Given the description of an element on the screen output the (x, y) to click on. 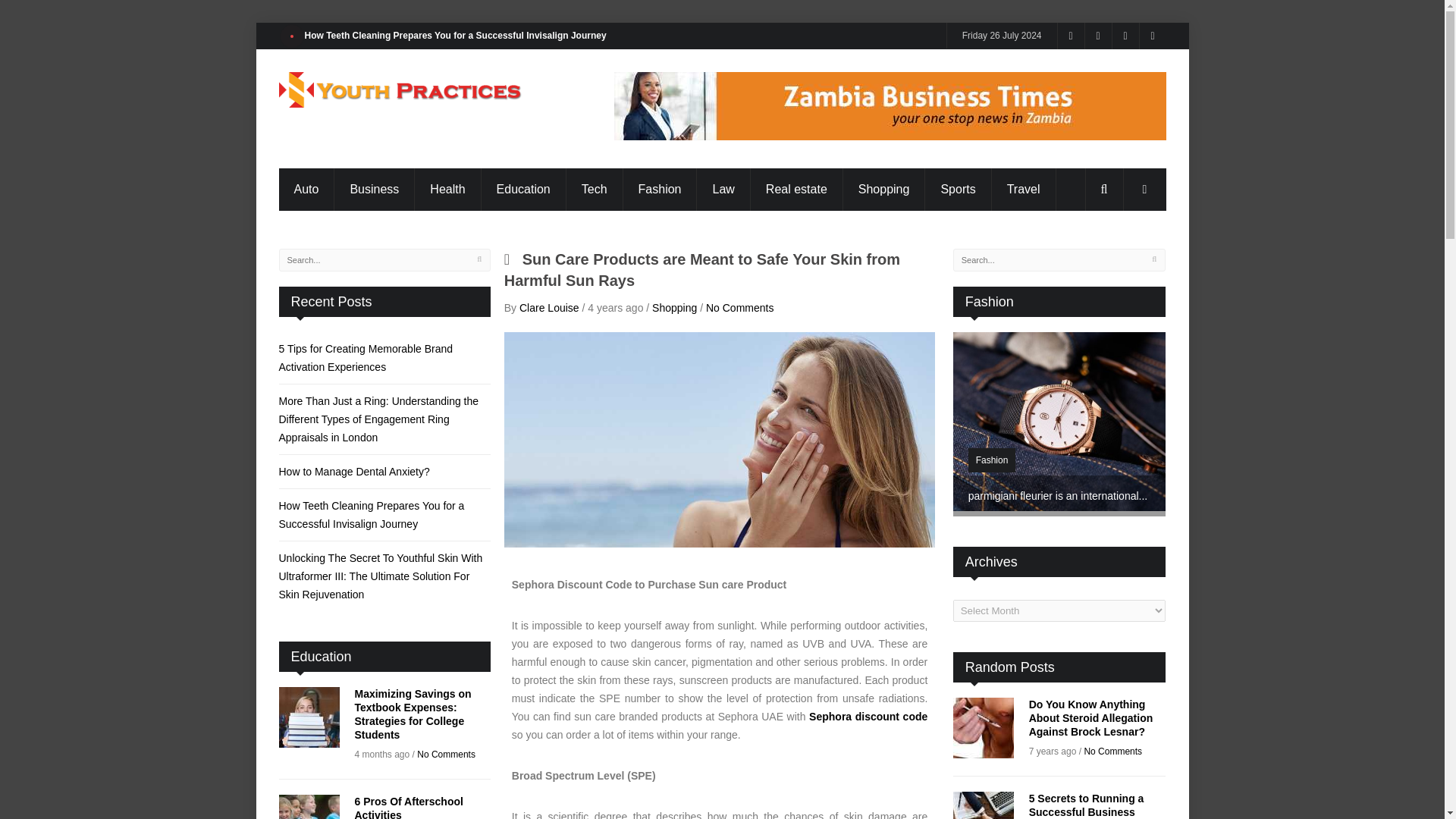
Law (723, 189)
Auto (306, 189)
View all posts under Fashion (992, 459)
Tech (594, 189)
Business (373, 189)
Education (523, 189)
Fashion (660, 189)
Health (447, 189)
Posts by Clare Louise (549, 307)
Love for Parmigiani Watches (1059, 507)
